Given the description of an element on the screen output the (x, y) to click on. 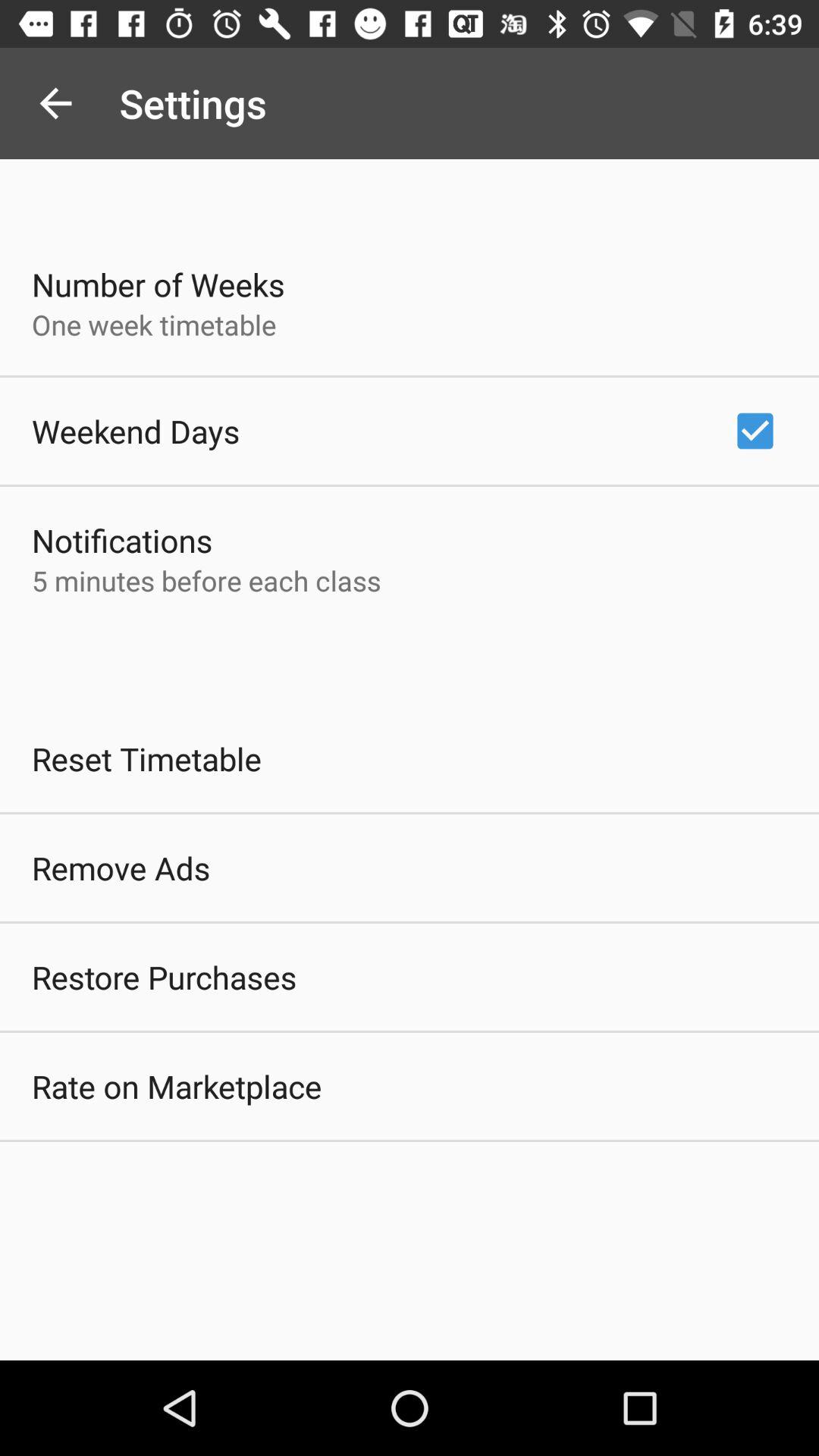
choose restore purchases app (163, 976)
